Given the description of an element on the screen output the (x, y) to click on. 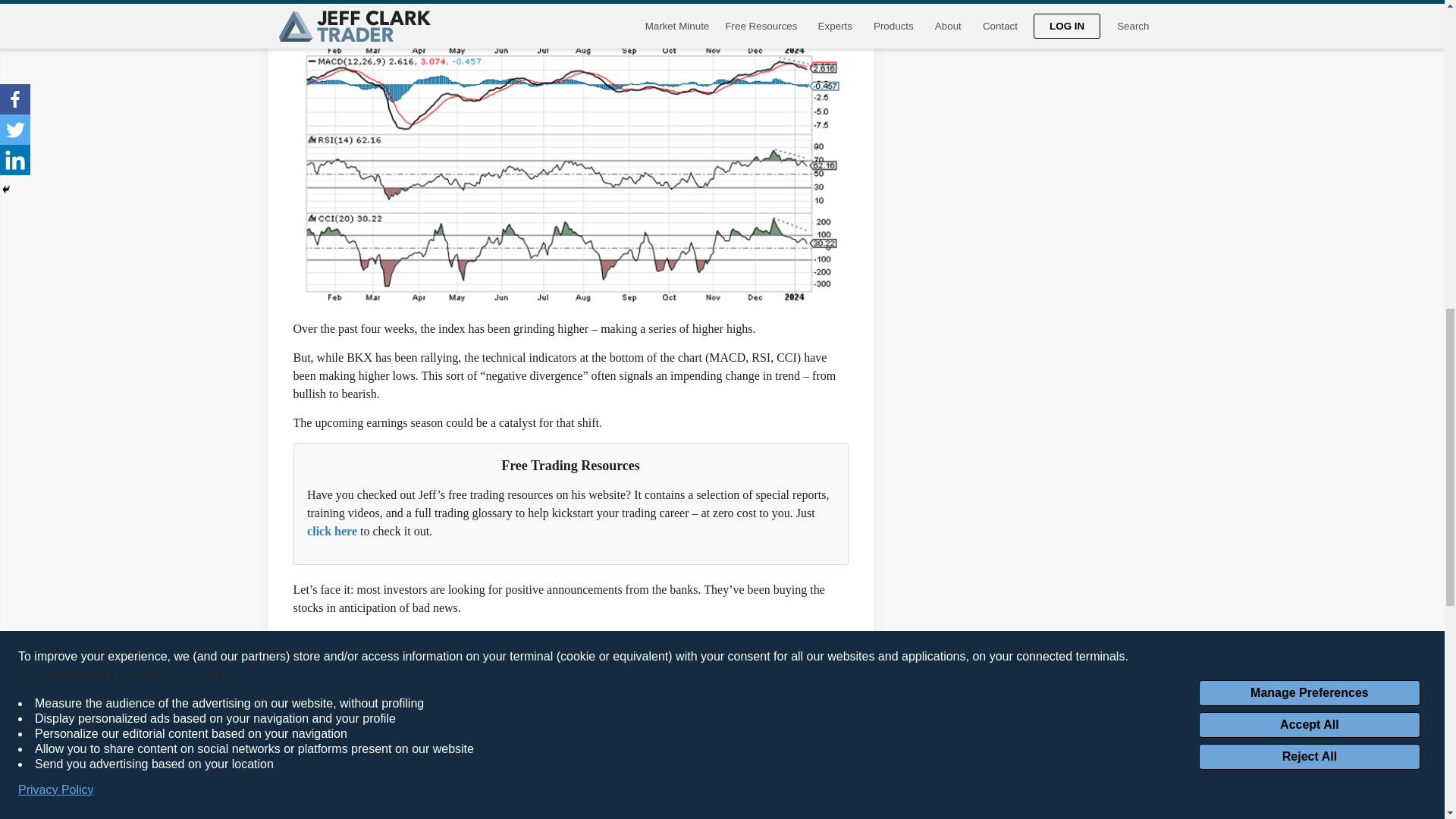
click here (331, 530)
